Given the description of an element on the screen output the (x, y) to click on. 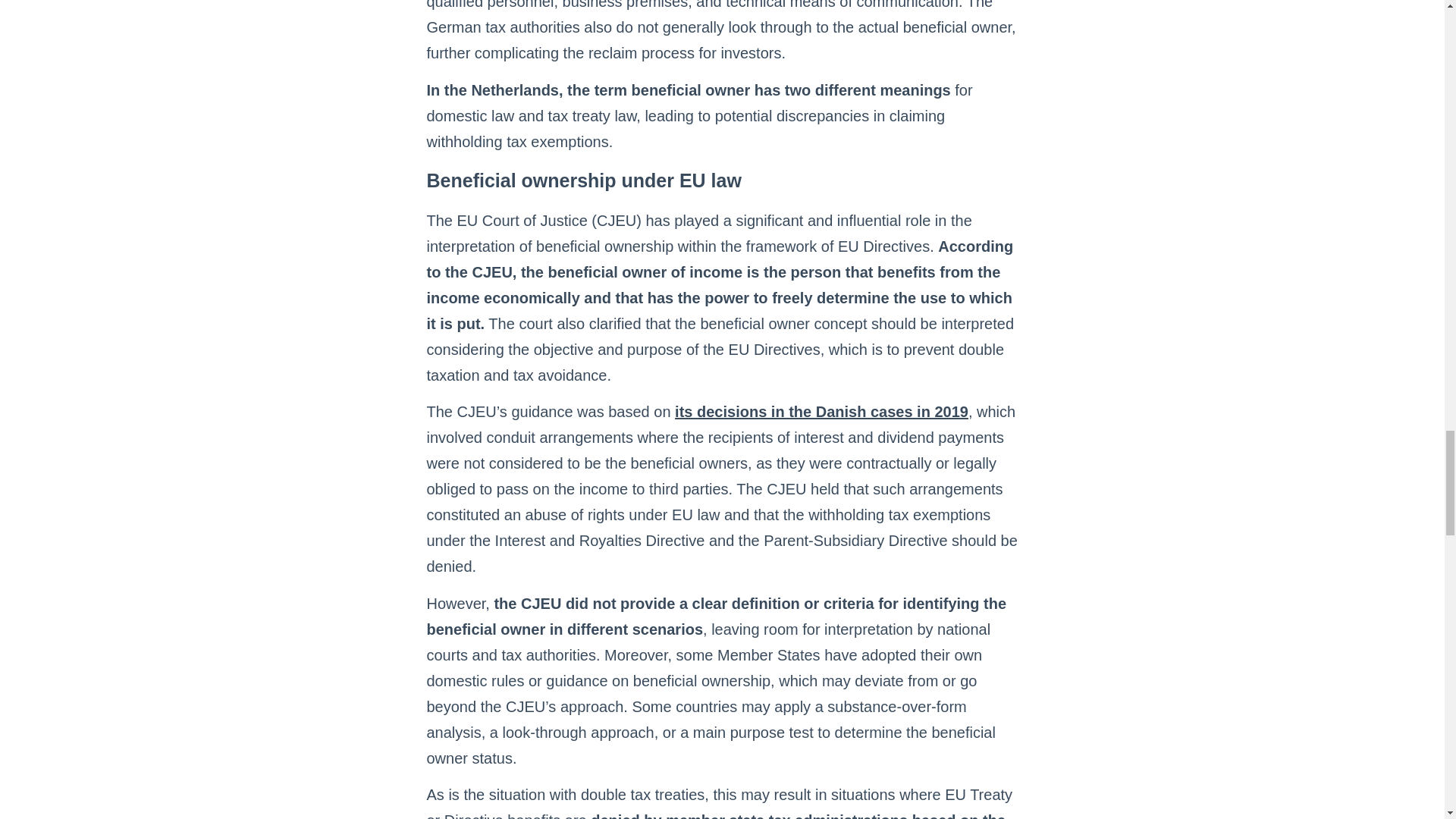
its decisions in the Danish cases in 2019 (821, 411)
